Given the description of an element on the screen output the (x, y) to click on. 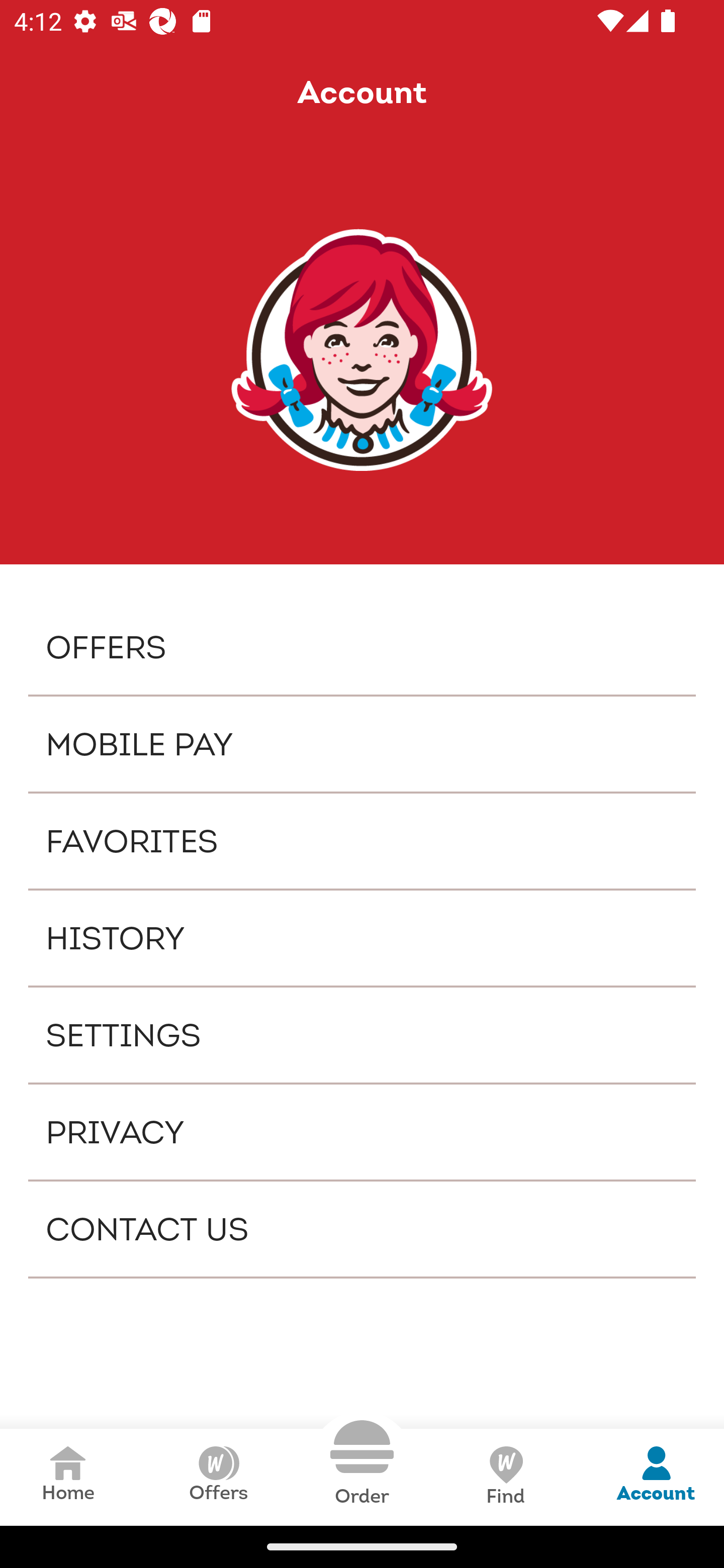
OFFERS Offers,1 of 8 (361, 646)
MOBILE PAY Mobile Pay,2 of 8 (361, 743)
FAVORITES Favorites,3 of 8 (361, 841)
HISTORY History,5 of 8 (361, 938)
SETTINGS Settings,6 of 8 (361, 1034)
PRIVACY Privacy,7 of 8 (361, 1132)
CONTACT US contact us,8 of 8 (361, 1229)
Order,3 of 5 Order (361, 1463)
Home,1 of 5 Home (68, 1476)
Rewards,2 of 5 Offers Offers (218, 1476)
Scan,4 of 5 Find Find (505, 1476)
Account,5 of 5 Account (655, 1476)
